Given the description of an element on the screen output the (x, y) to click on. 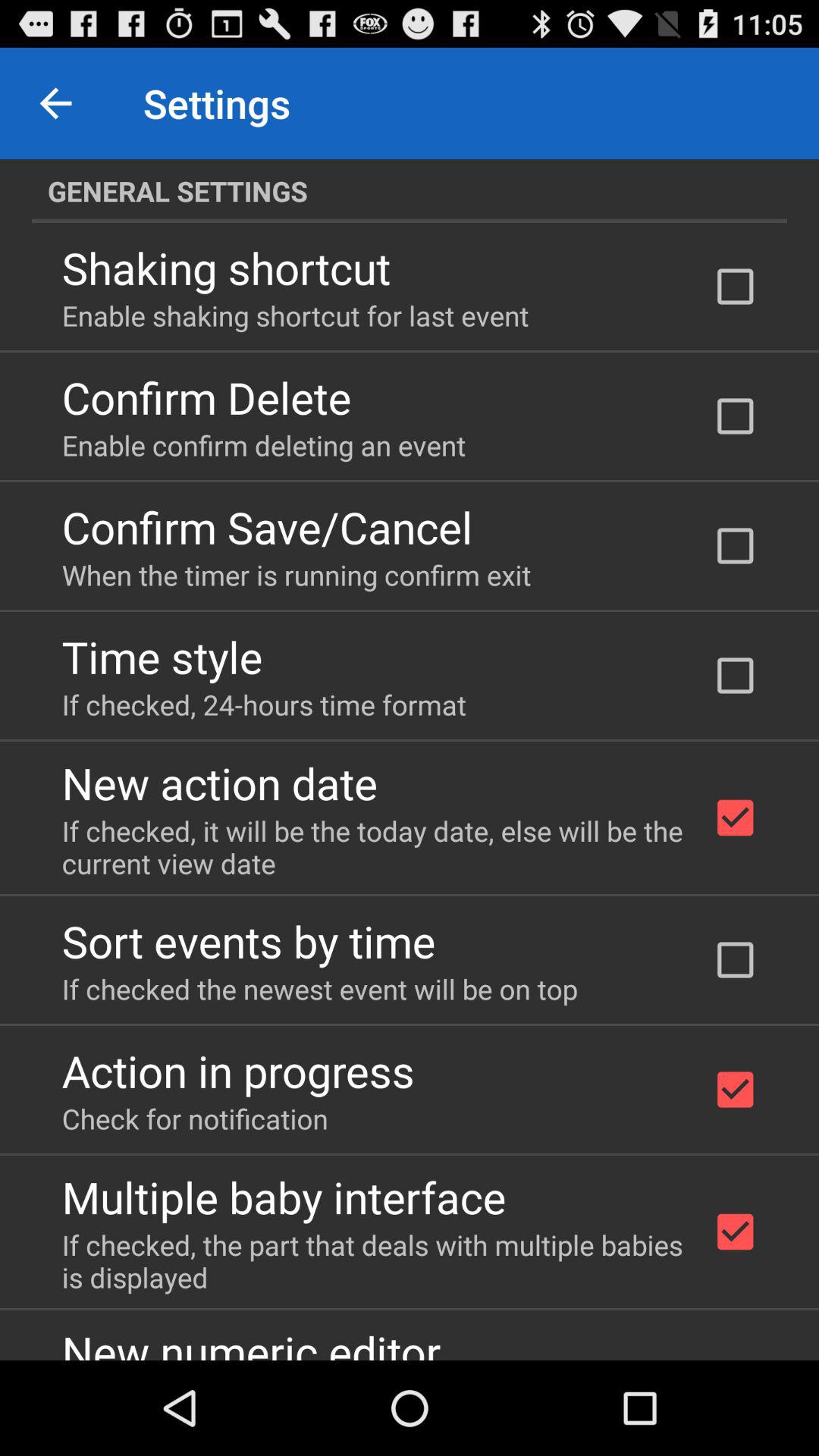
press item to the left of the settings item (55, 103)
